Given the description of an element on the screen output the (x, y) to click on. 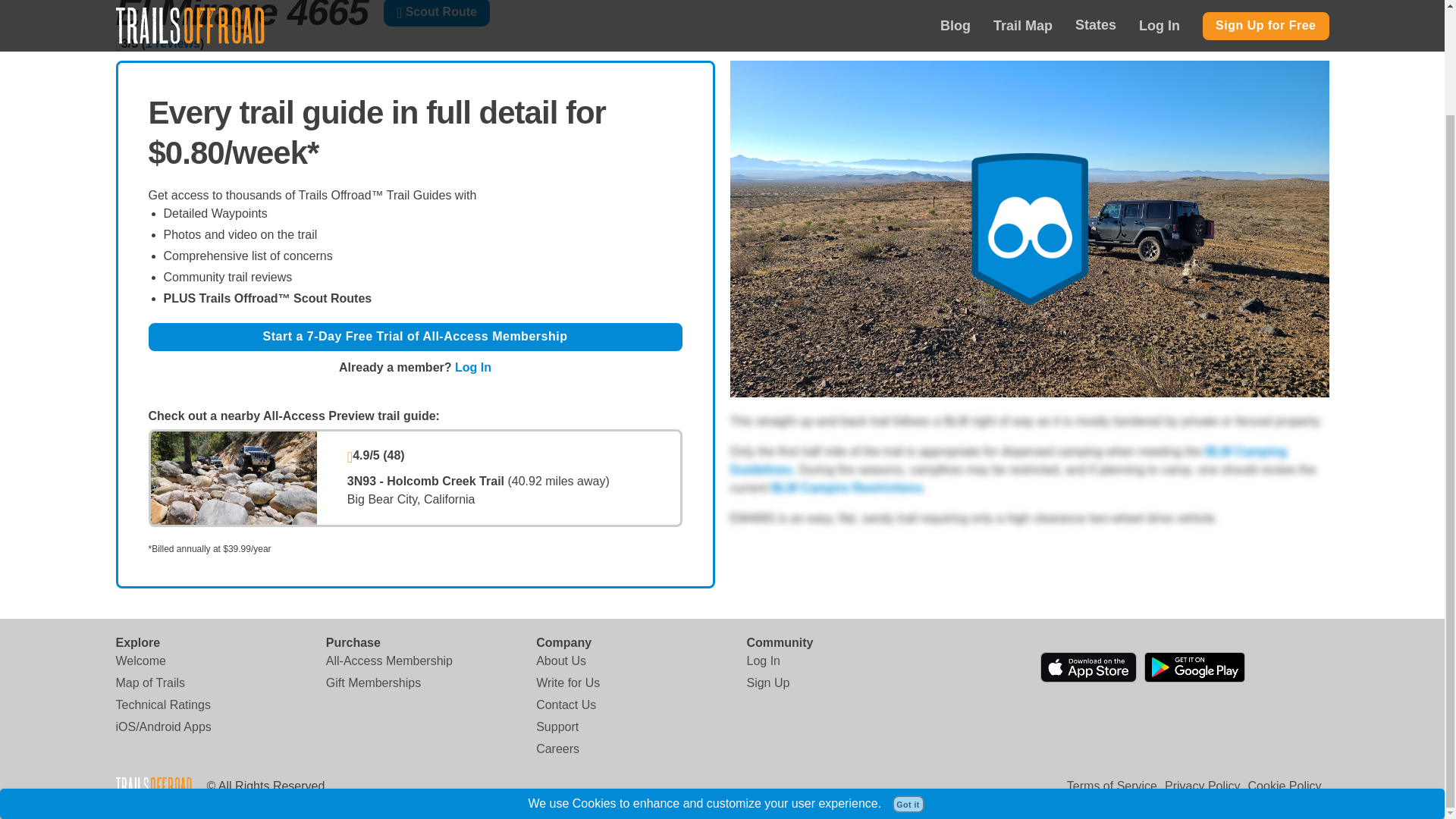
Map of Trails (149, 683)
Write for Us (567, 683)
Cookie Policy (1284, 786)
Got it (908, 681)
1 reviews (172, 42)
Careers (557, 749)
All-Access Membership (389, 660)
Gift Memberships (373, 683)
Support (556, 727)
Log In (473, 367)
